Given the description of an element on the screen output the (x, y) to click on. 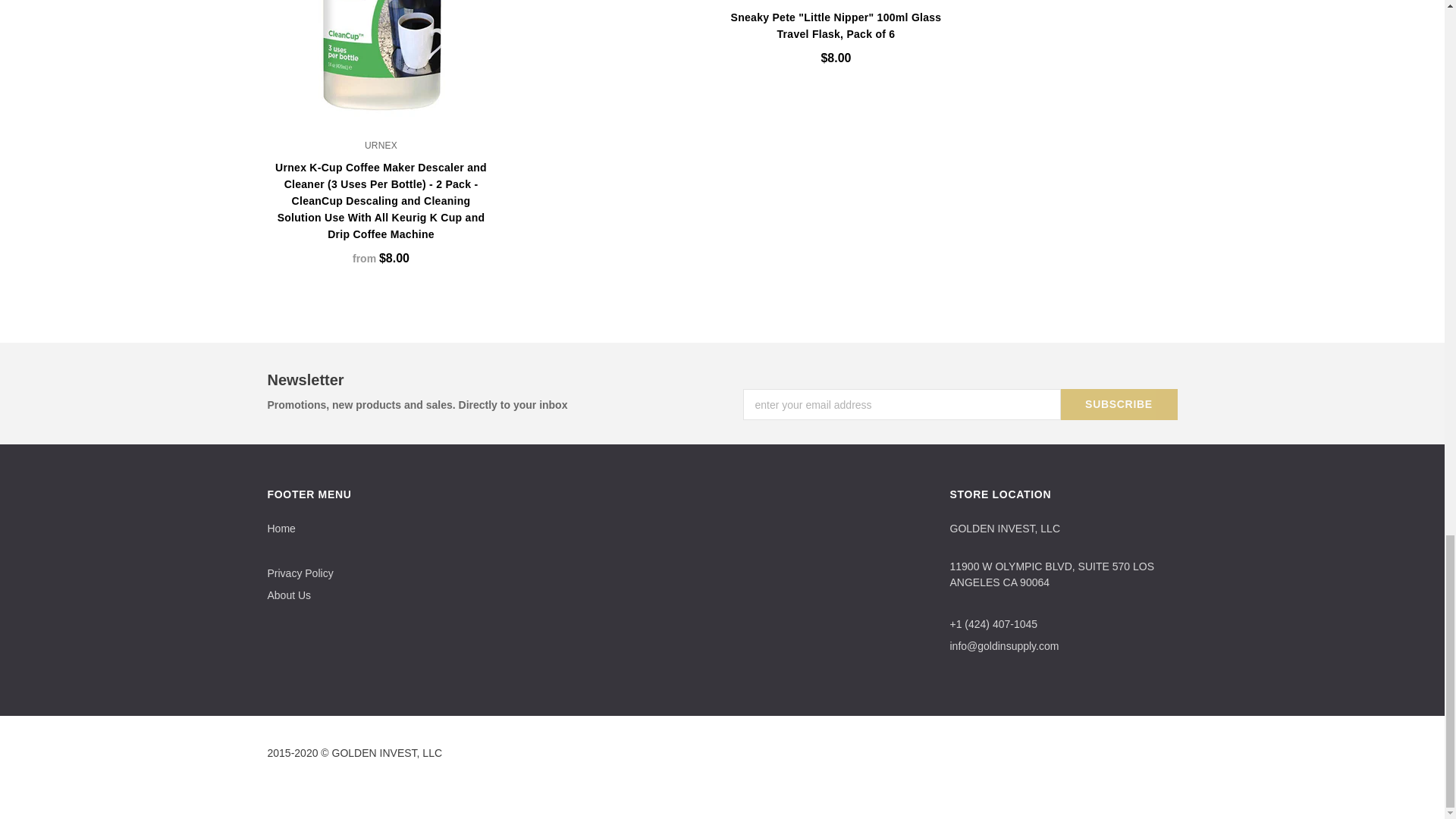
Subscribe (1117, 404)
